Given the description of an element on the screen output the (x, y) to click on. 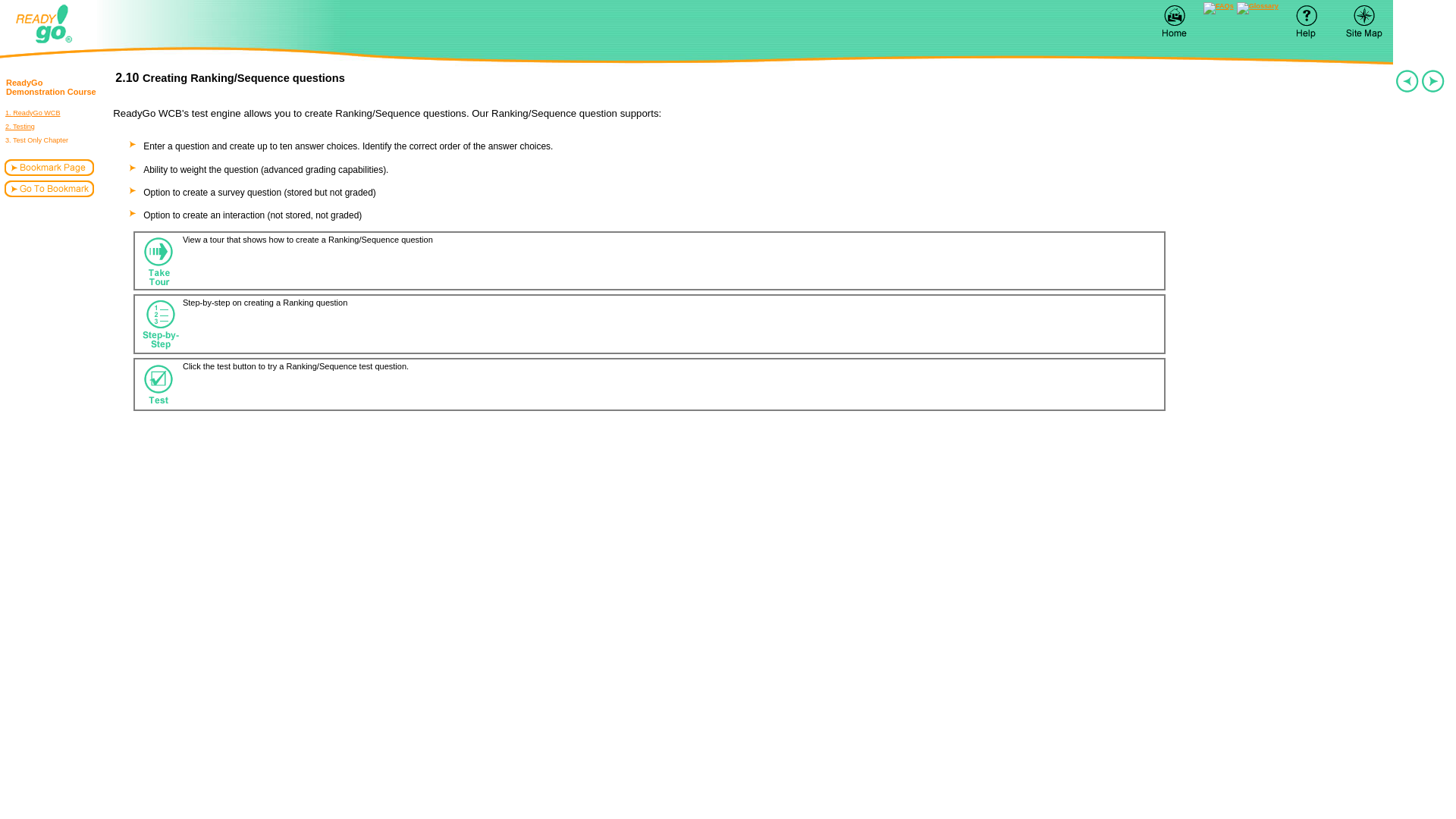
Back (1364, 20)
1. ReadyGo WCB (1257, 8)
3. Test Only Chapter (1218, 8)
